Given the description of an element on the screen output the (x, y) to click on. 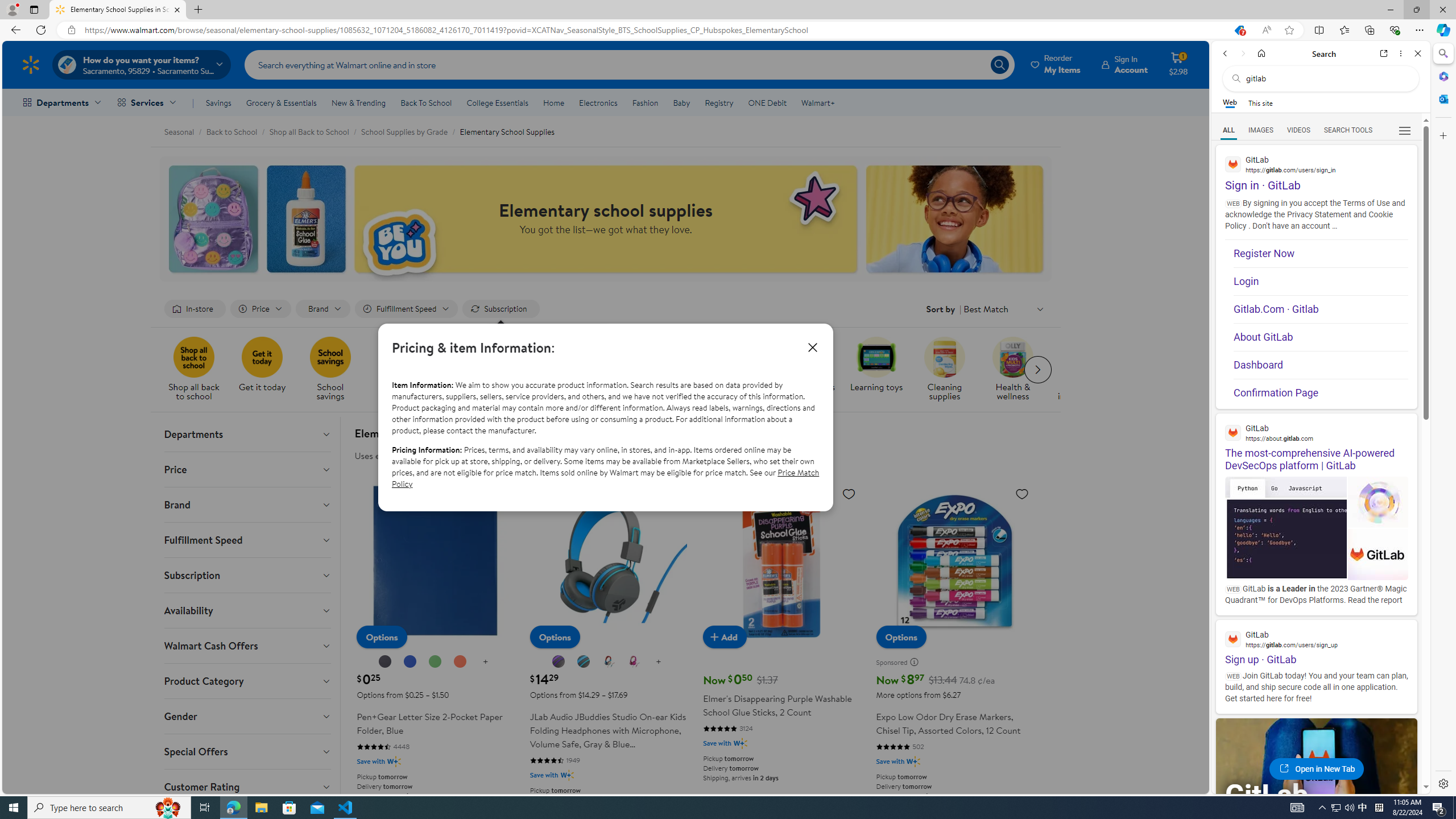
Preferences (1403, 129)
Confirmation Page (1320, 389)
Search Filter, VIDEOS (1298, 129)
